Given the description of an element on the screen output the (x, y) to click on. 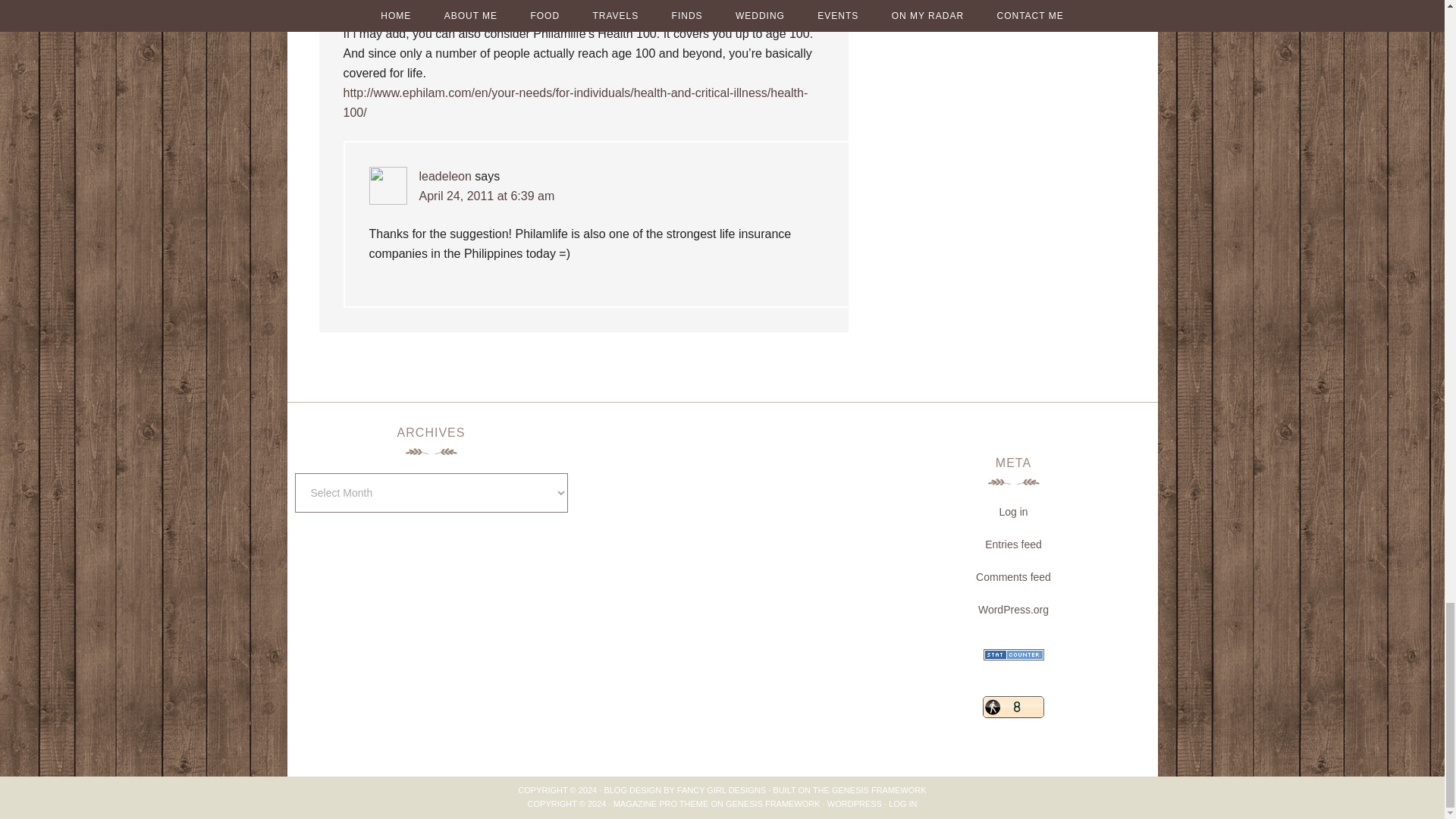
Genesis Framework (878, 789)
leadeleon (444, 175)
April 24, 2011 at 6:39 am (486, 195)
Click to see what's popular on this site! (1012, 707)
